Given the description of an element on the screen output the (x, y) to click on. 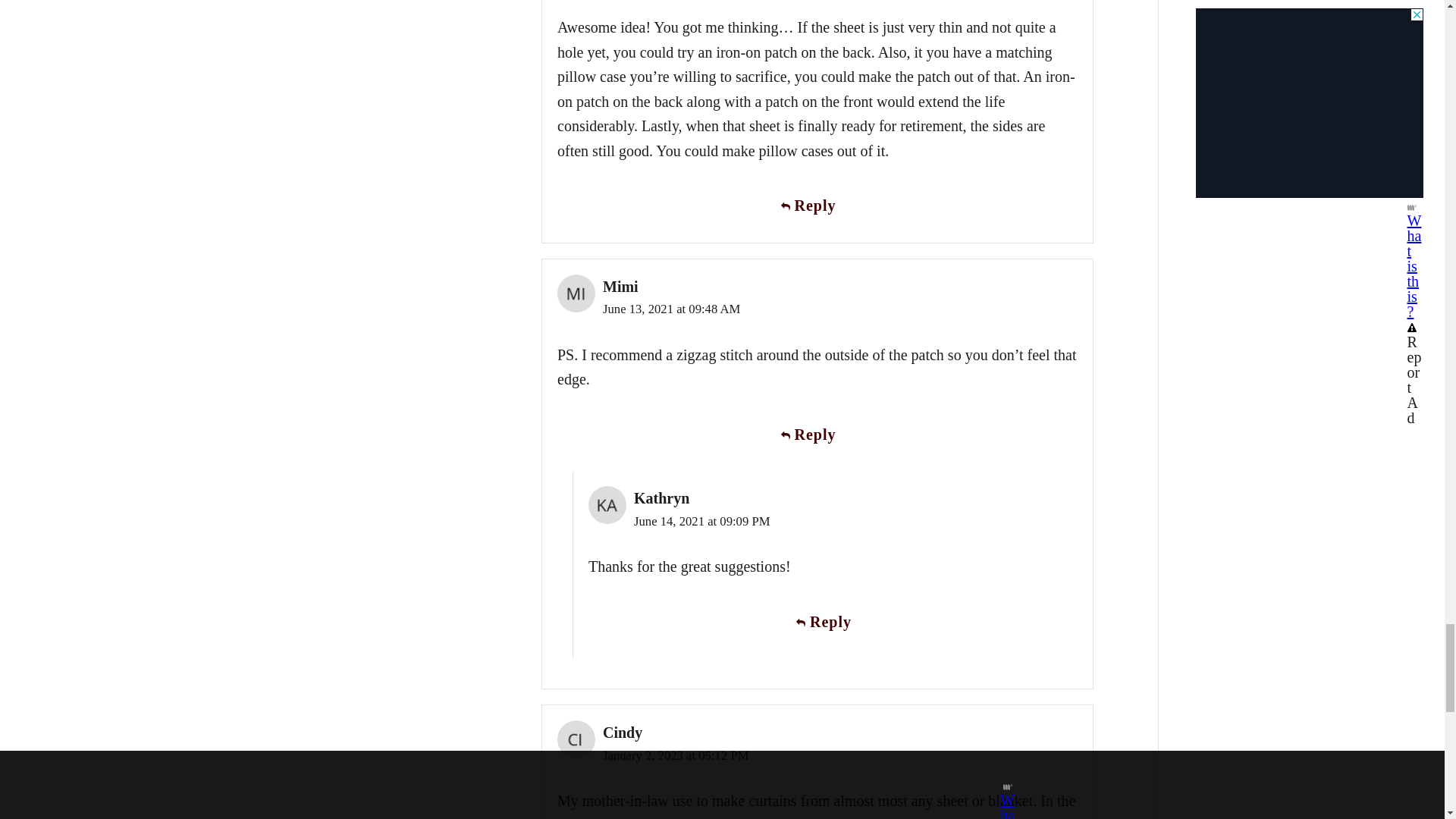
Reply (817, 205)
Reply (832, 621)
Reply (817, 434)
